Given the description of an element on the screen output the (x, y) to click on. 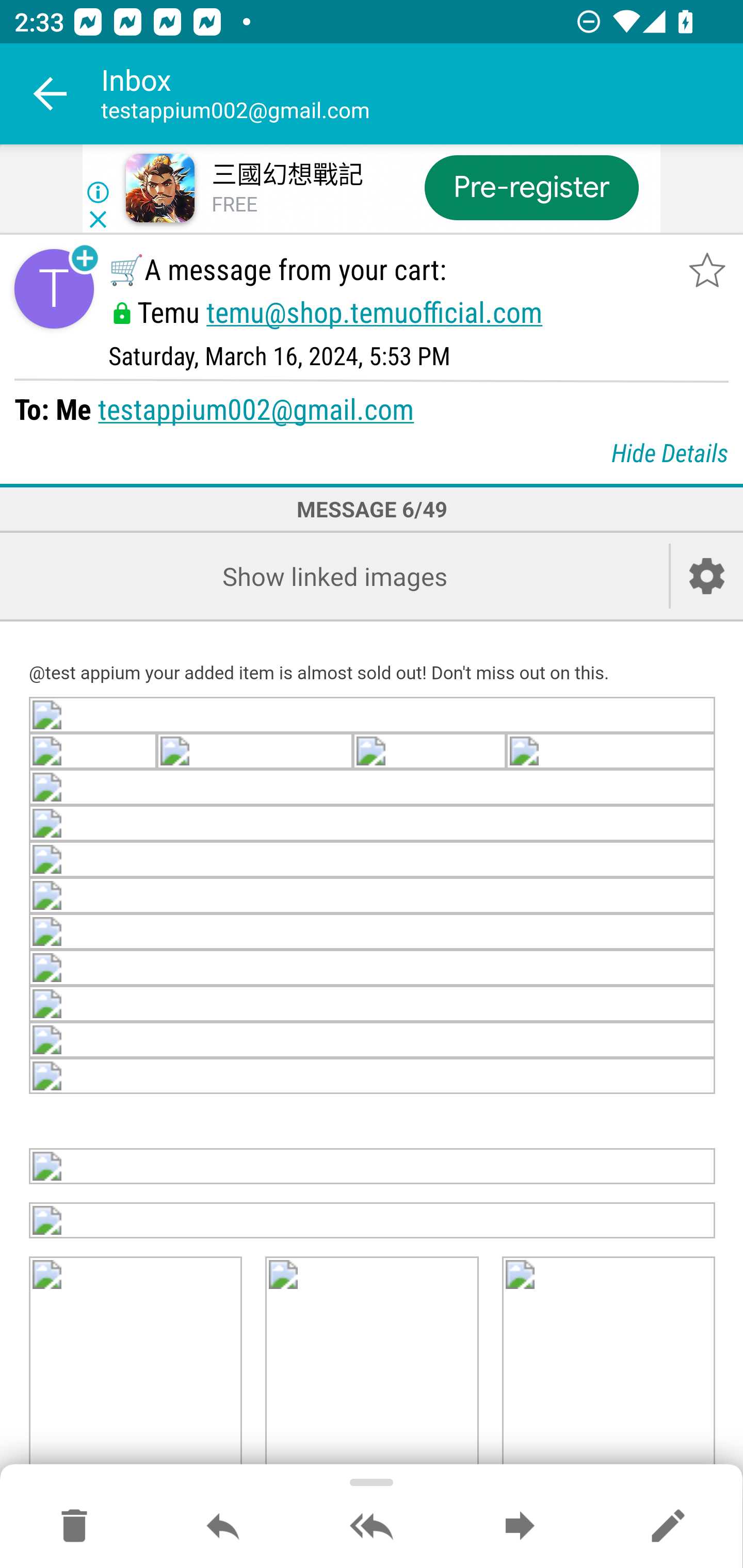
Navigate up (50, 93)
Inbox testappium002@gmail.com (422, 93)
Pre-register (530, 187)
三國幻想戰記 (287, 175)
FREE (234, 204)
Sender contact button (53, 289)
Show linked images (334, 576)
Account setup (706, 576)
data: (372, 714)
data: (93, 750)
data: (254, 750)
data: (429, 750)
data: (610, 750)
data: (372, 786)
data: (372, 860)
data: (372, 932)
data: (372, 968)
data: (372, 1004)
data: (372, 1040)
data: (372, 1077)
data: (372, 1165)
mbs_landing_goods (372, 1220)
mbs_landing_goods (135, 1363)
mbs_landing_goods (371, 1363)
mbs_landing_goods (608, 1363)
Move to Deleted (74, 1527)
Reply (222, 1527)
Reply all (371, 1527)
Forward (519, 1527)
Reply as new (667, 1527)
